Given the description of an element on the screen output the (x, y) to click on. 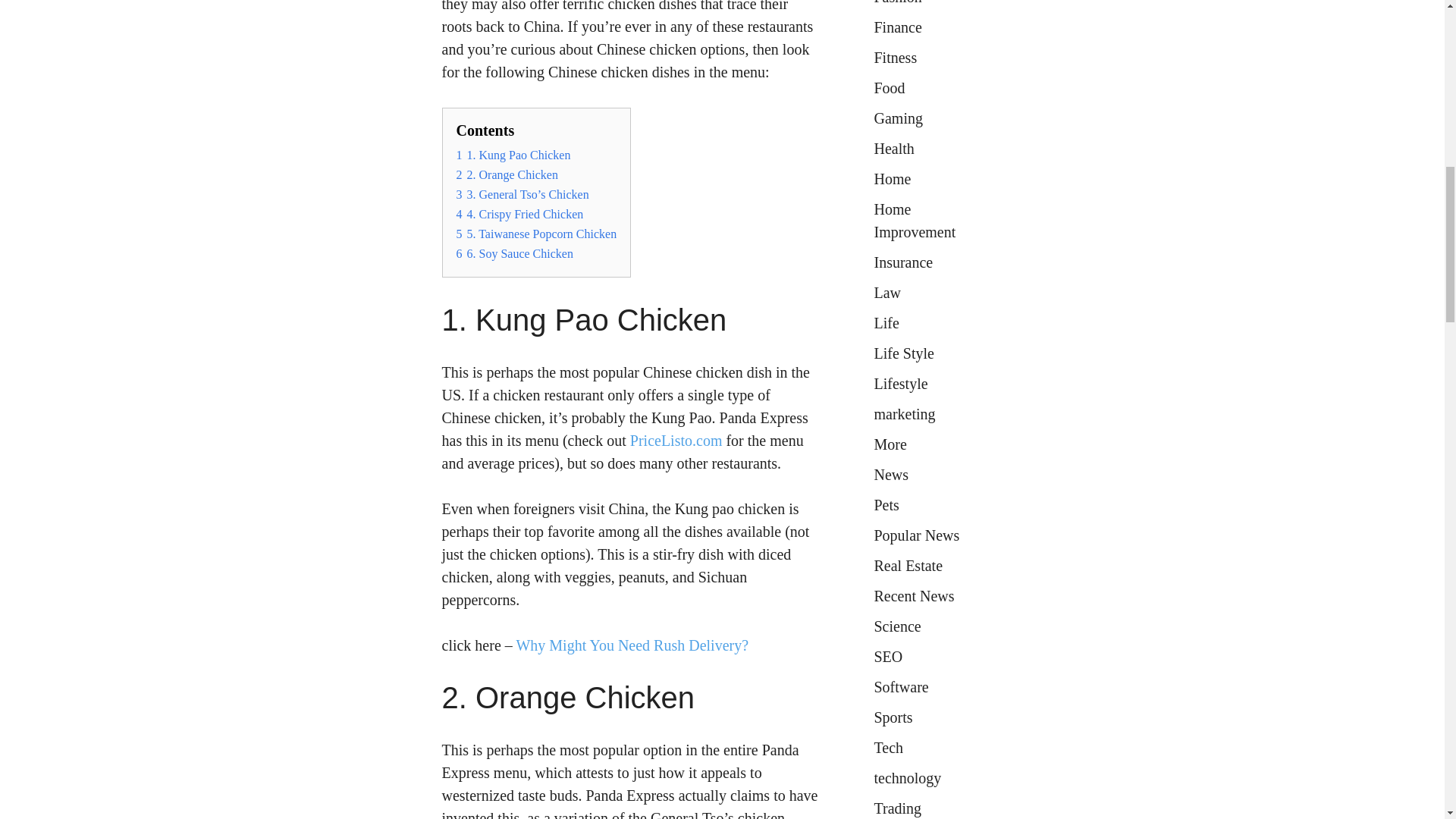
Why Might You Need Rush Delivery? (631, 645)
6 6. Soy Sauce Chicken (515, 253)
2 2. Orange Chicken (507, 174)
1 1. Kung Pao Chicken (513, 154)
4 4. Crispy Fried Chicken (520, 214)
PriceListo.com (676, 440)
5 5. Taiwanese Popcorn Chicken (537, 233)
